Given the description of an element on the screen output the (x, y) to click on. 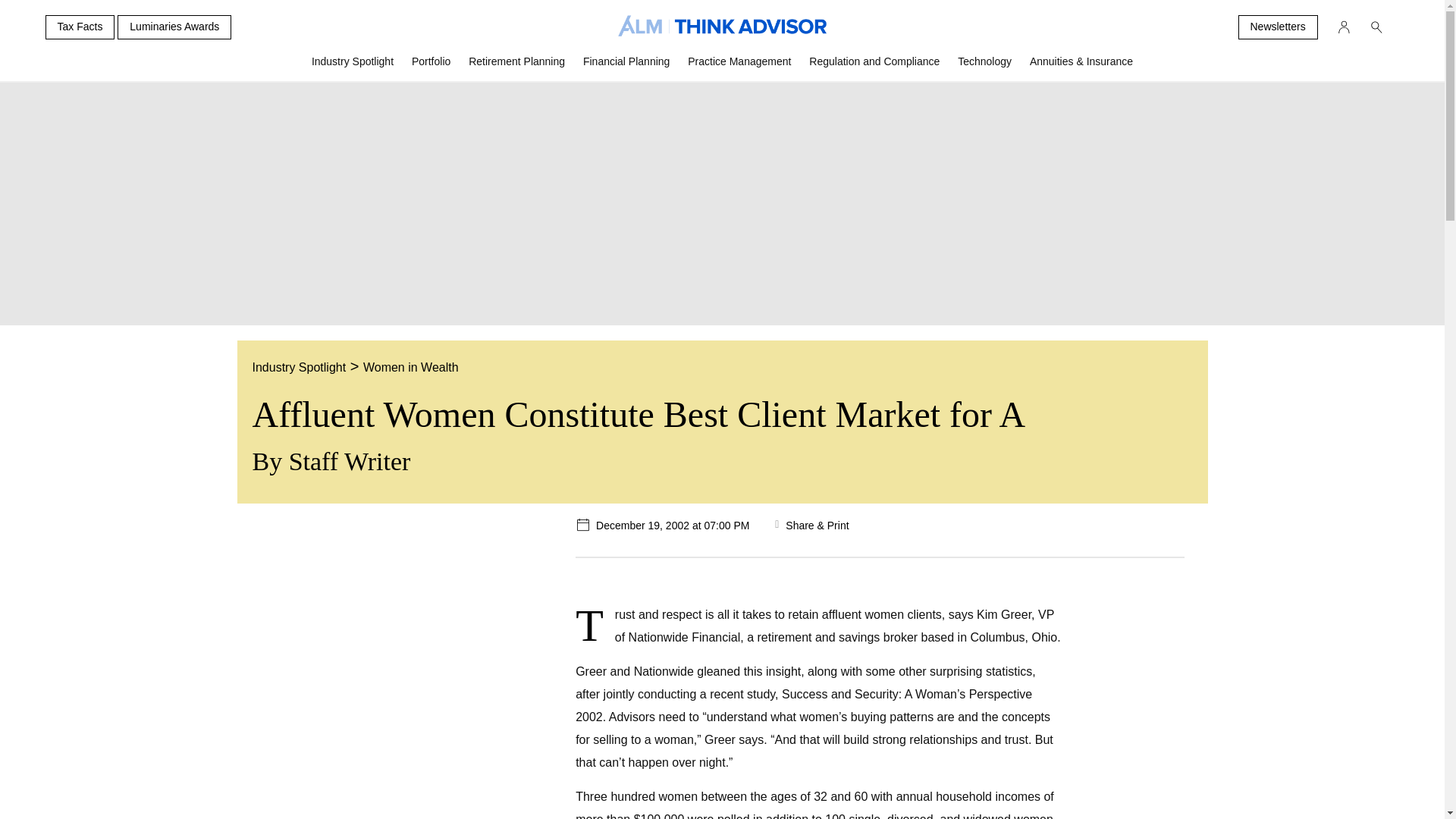
Newsletters (1277, 27)
Luminaries Awards (174, 27)
Tax Facts (80, 27)
Industry Spotlight (352, 67)
